Given the description of an element on the screen output the (x, y) to click on. 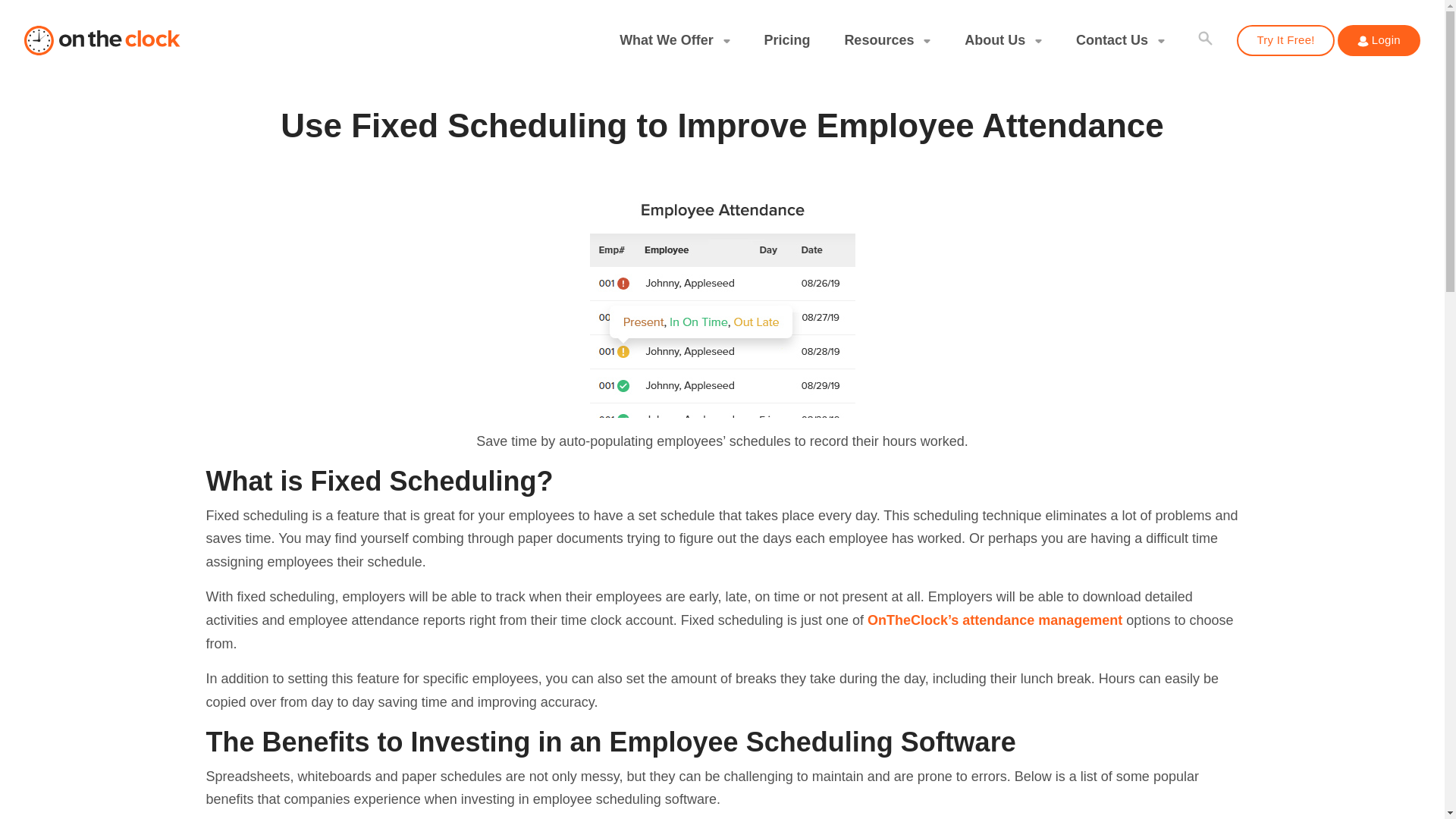
OnTheClock Resources (887, 40)
What We Offer (674, 40)
Login OnTheClock Login Button for registered users (1362, 41)
OnTheClock - Employee Time Tracking (103, 40)
Contact Us (1120, 40)
About Us (1003, 40)
What We Offer (674, 40)
OnTheClock - Online Employee Time Clock (103, 40)
Pricing (786, 40)
Resources (887, 40)
